Given the description of an element on the screen output the (x, y) to click on. 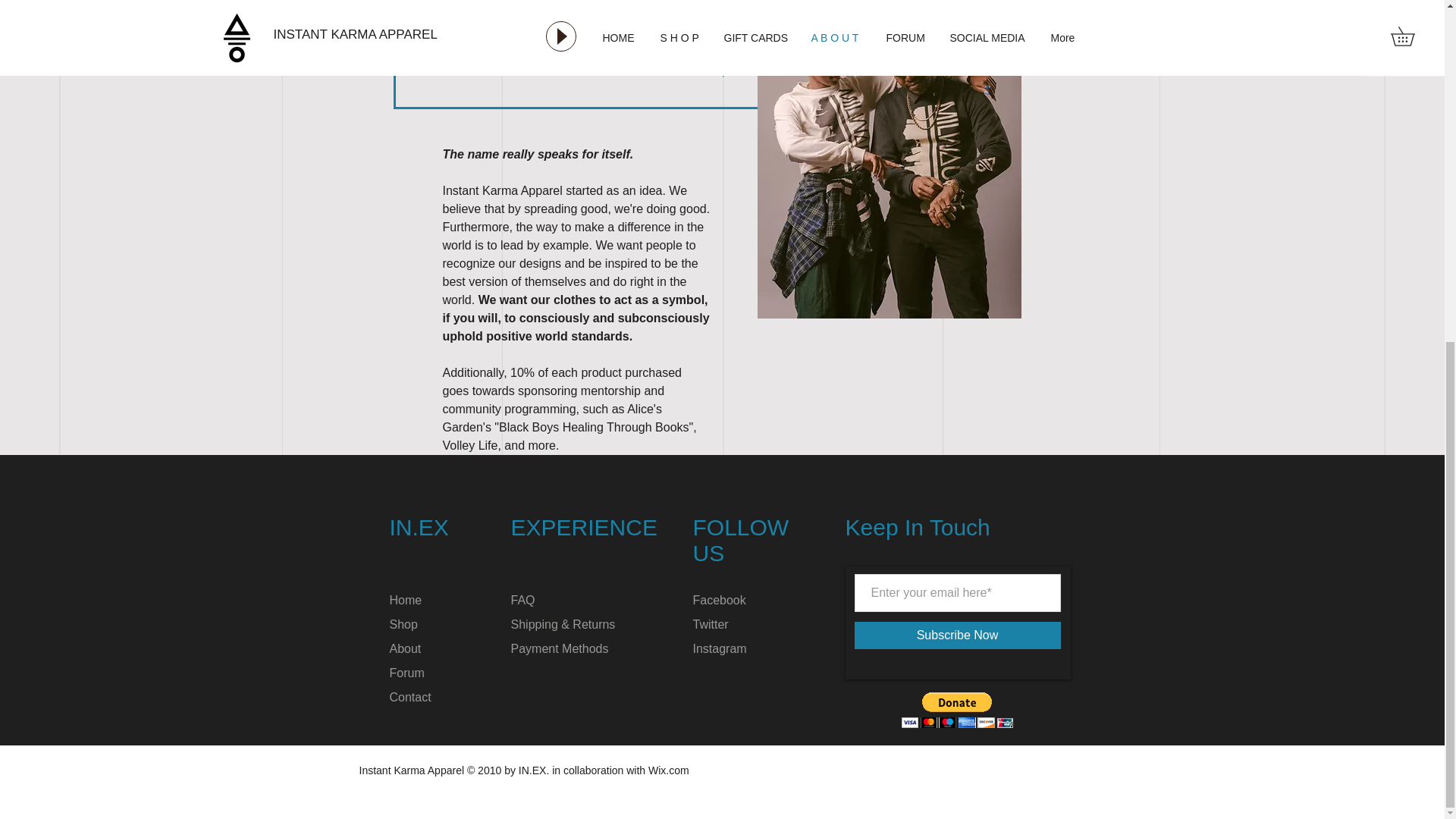
About (406, 648)
Forum (407, 672)
Home (406, 599)
Facebook (719, 599)
Instagram (719, 648)
Payment Methods (559, 648)
Subscribe Now (956, 635)
Twitter (711, 624)
Shop (403, 624)
Contact (410, 697)
